Given the description of an element on the screen output the (x, y) to click on. 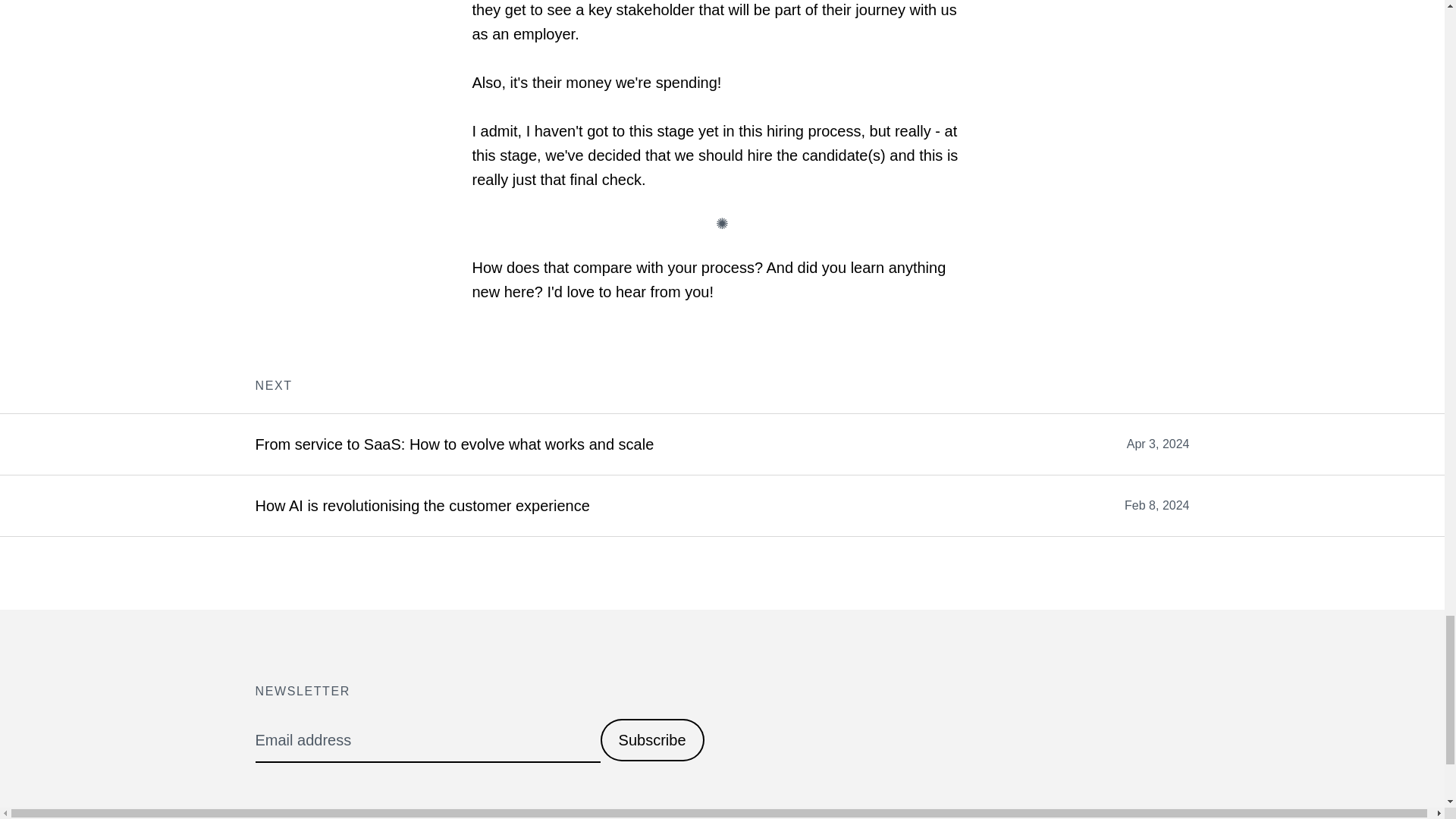
Twitter (276, 816)
Instagram (357, 816)
Subscribe (651, 740)
LinkedIn (443, 816)
